Given the description of an element on the screen output the (x, y) to click on. 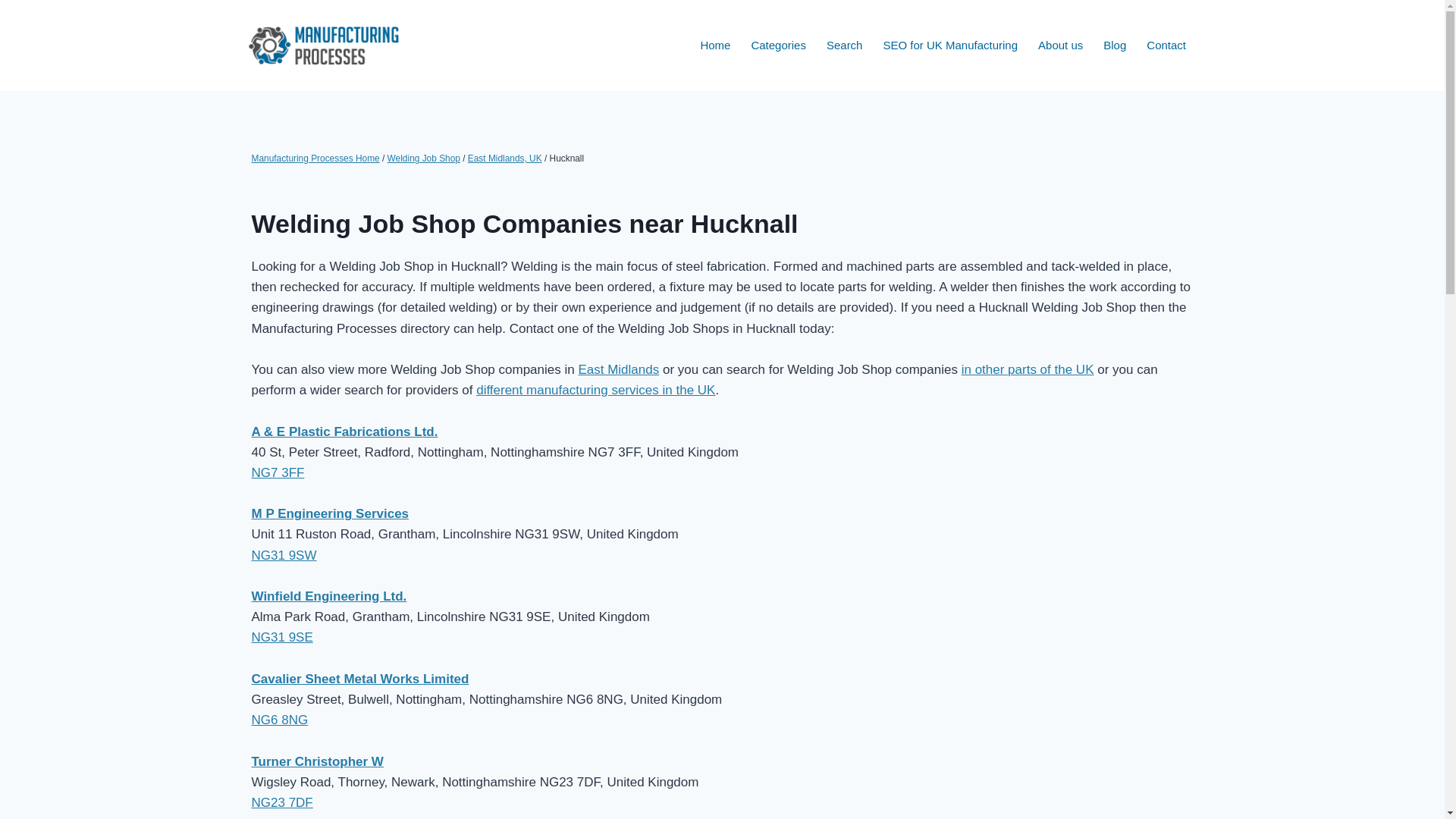
NG31 9SE (282, 636)
Blog (1115, 45)
M P Engineering Services (330, 513)
NG6 8NG (279, 719)
East Midlands, UK (504, 158)
Search (843, 45)
Welding Job Shop (423, 158)
Turner Christopher W (317, 761)
Manufacturing Processes Home (315, 158)
East Midlands (618, 369)
in other parts of the UK (1027, 369)
Cavalier Sheet Metal Works Limited (359, 678)
different manufacturing services in the UK (595, 390)
Categories (778, 45)
SEO for UK Manufacturing (949, 45)
